Given the description of an element on the screen output the (x, y) to click on. 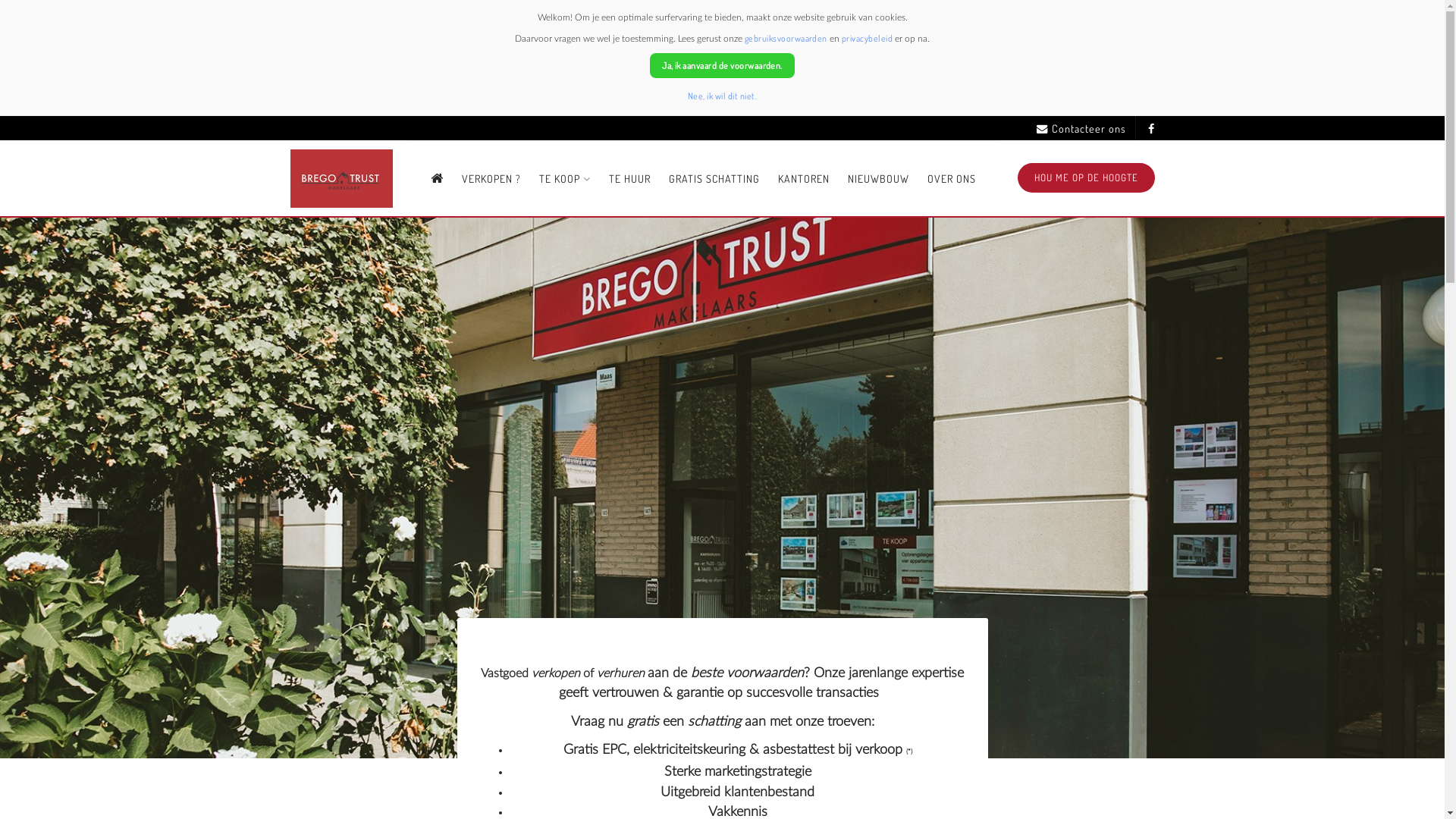
Contacteer ons Element type: text (1080, 128)
OVER ONS Element type: text (951, 178)
privacybeleid Element type: text (866, 37)
VERKOPEN ? Element type: text (490, 178)
TE HUUR Element type: text (629, 178)
Nee, ik wil dit niet. Element type: text (721, 95)
KANTOREN Element type: text (803, 178)
HOU ME OP DE HOOGTE Element type: text (1085, 177)
Ja, ik aanvaard de voorwaarden. Element type: text (721, 65)
NIEUWBOUW Element type: text (878, 178)
TE KOOP Element type: text (564, 178)
gebruiksvoorwaarden Element type: text (785, 37)
GRATIS SCHATTING Element type: text (713, 178)
